Given the description of an element on the screen output the (x, y) to click on. 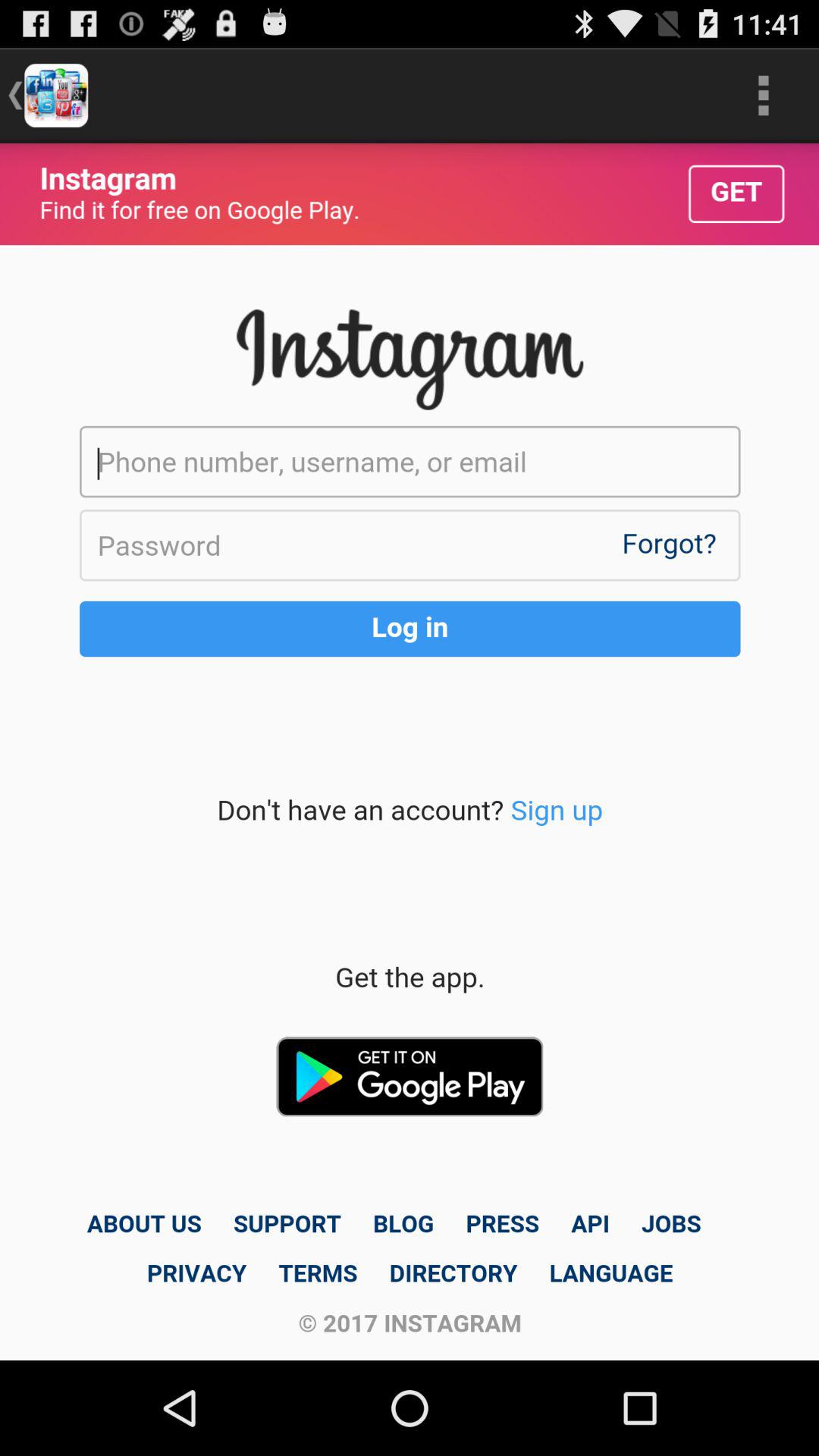
log in (409, 751)
